Given the description of an element on the screen output the (x, y) to click on. 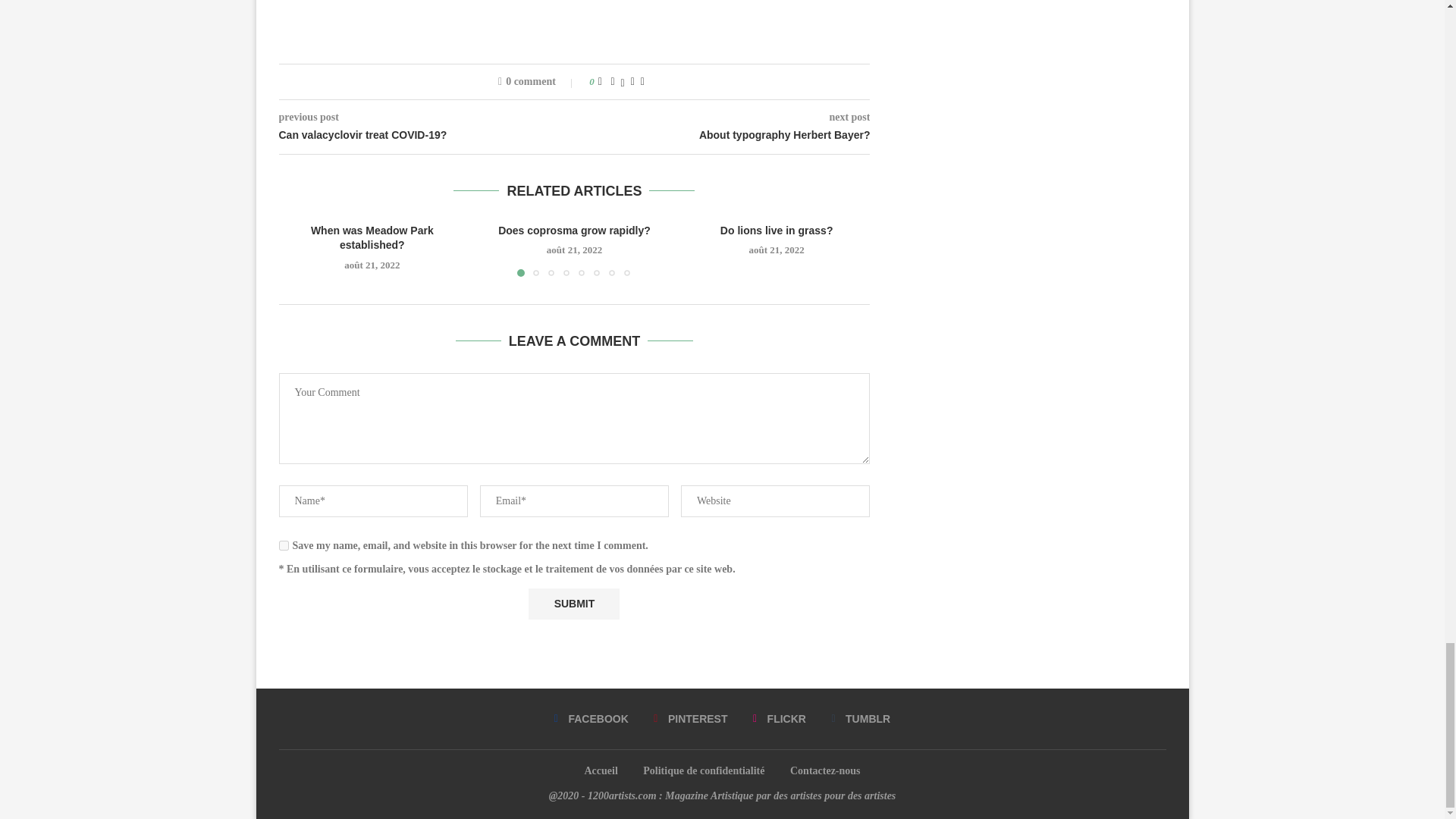
Do lions live in grass? (776, 230)
Advertisement (574, 16)
Does coprosma grow rapidly? (573, 230)
When was Meadow Park established? (372, 237)
About typography Herbert Bayer? (722, 135)
yes (283, 545)
Submit (574, 603)
Can valacyclovir treat COVID-19? (427, 135)
